Given the description of an element on the screen output the (x, y) to click on. 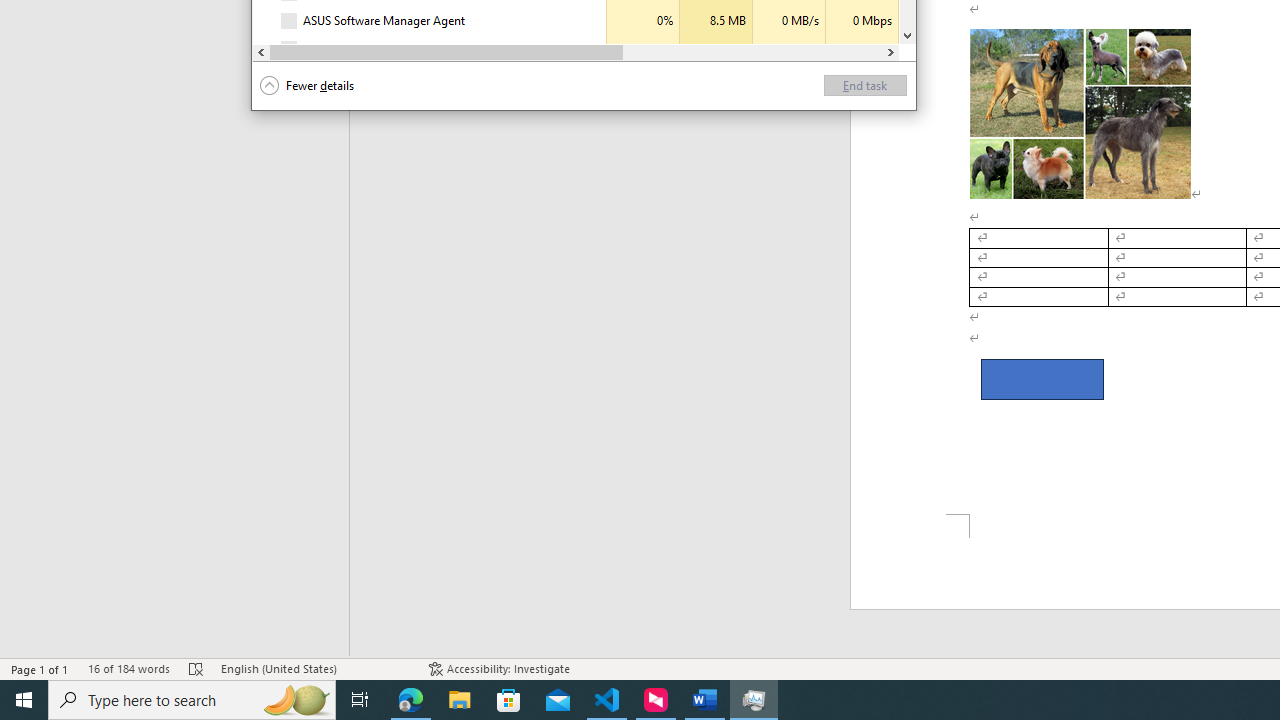
Disk (788, 49)
